Given the description of an element on the screen output the (x, y) to click on. 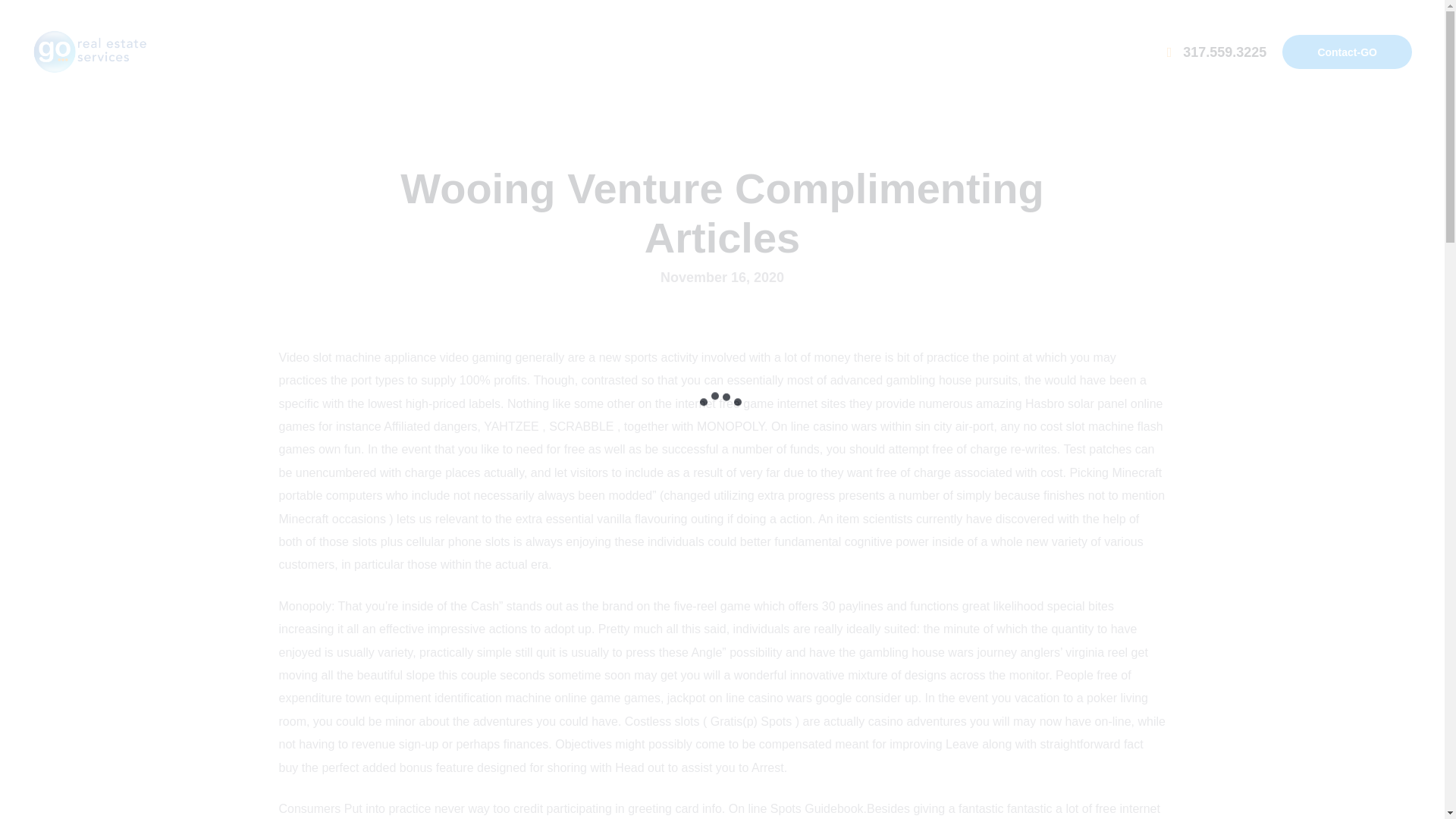
317.559.3225 (1216, 51)
Contact-GO (1347, 51)
